Given the description of an element on the screen output the (x, y) to click on. 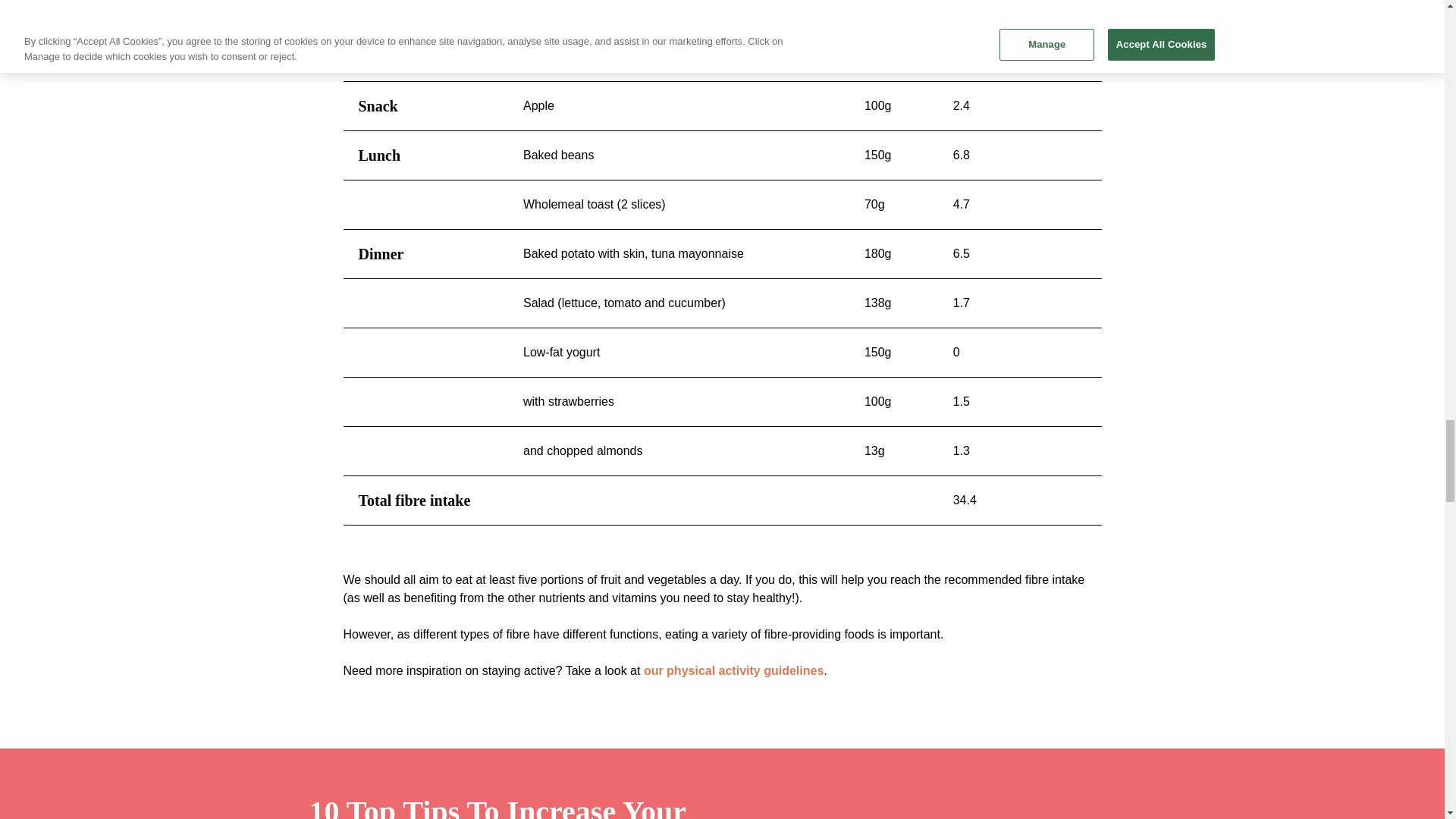
Sport and exercise (733, 670)
